Given the description of an element on the screen output the (x, y) to click on. 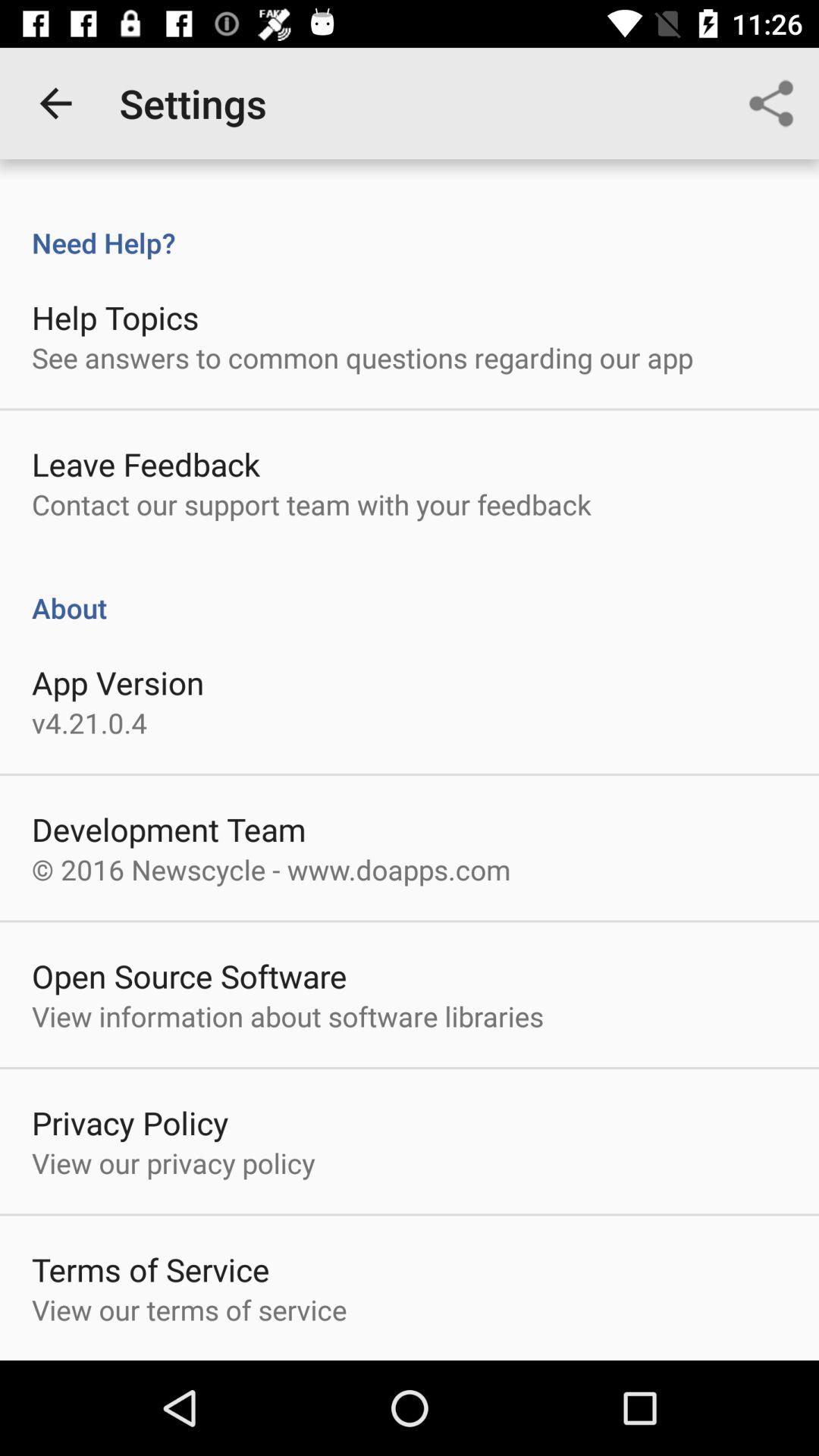
turn off the item above about (311, 504)
